Given the description of an element on the screen output the (x, y) to click on. 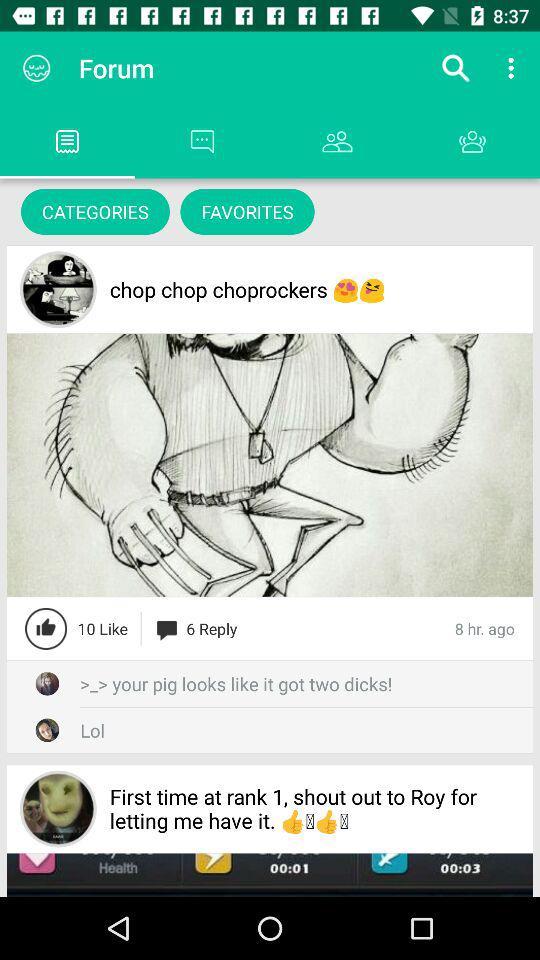
press the item next to the categories icon (247, 211)
